Given the description of an element on the screen output the (x, y) to click on. 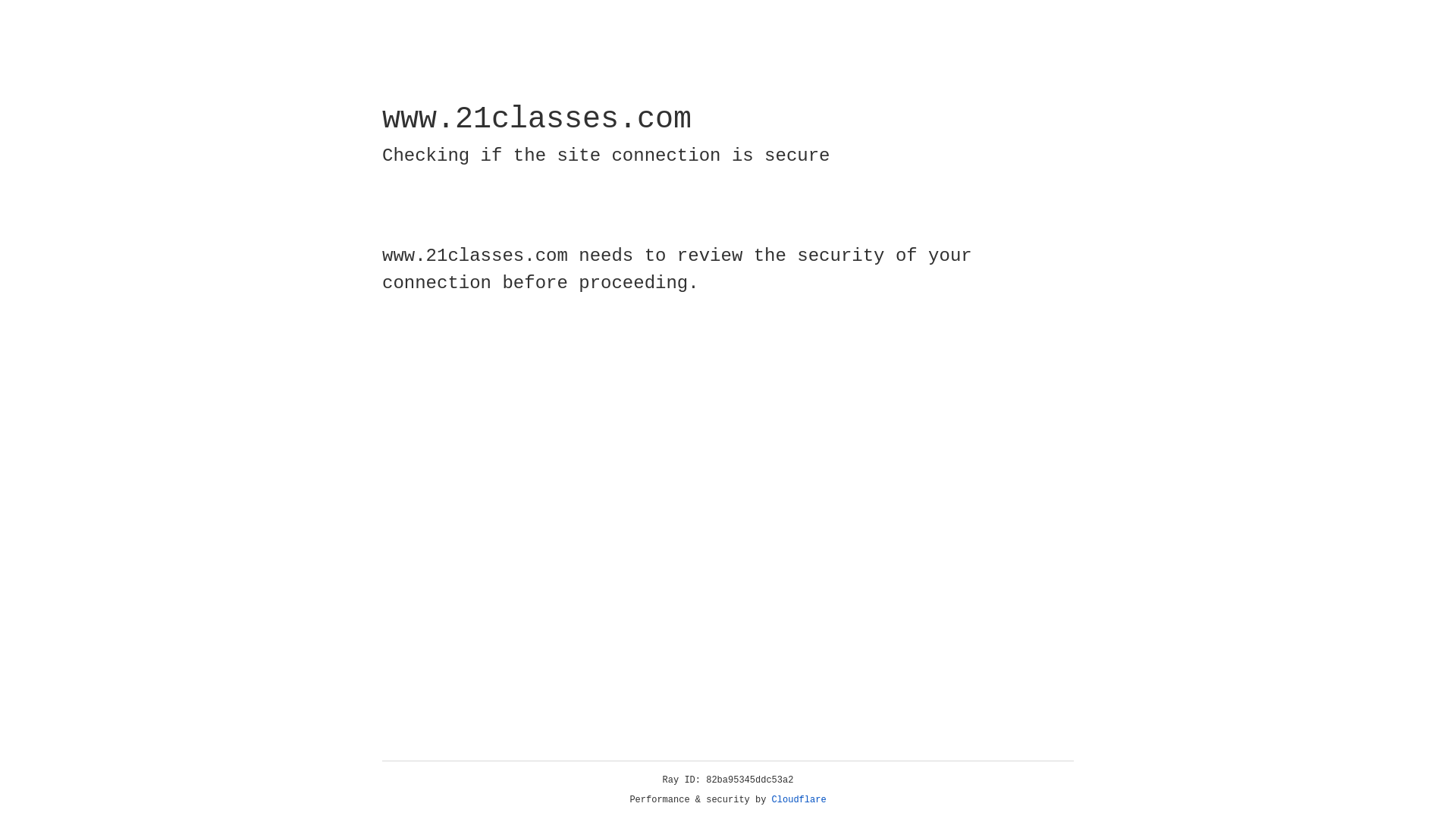
Cloudflare Element type: text (798, 799)
